Given the description of an element on the screen output the (x, y) to click on. 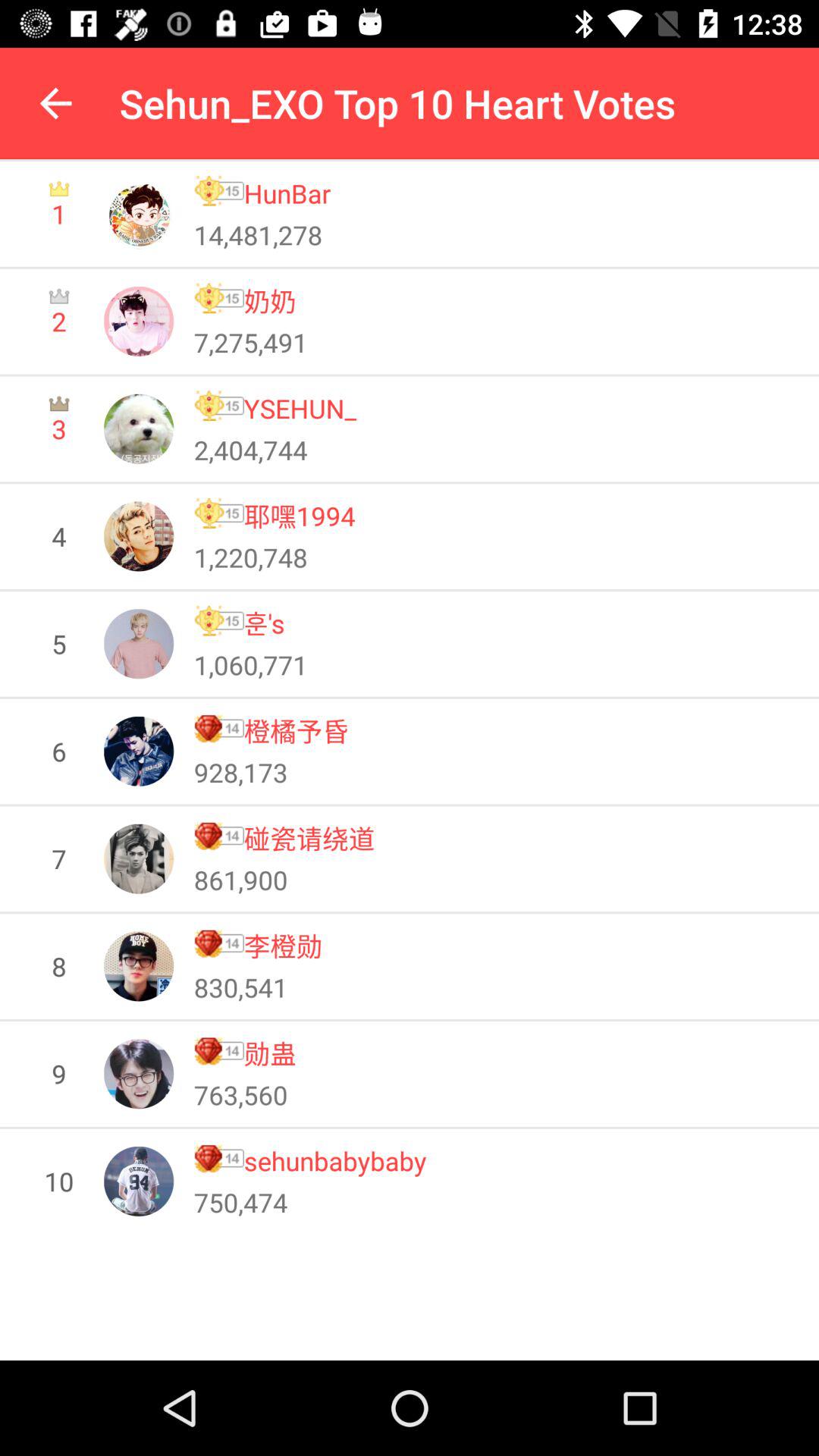
press the sehunbabybaby item (334, 1160)
